Given the description of an element on the screen output the (x, y) to click on. 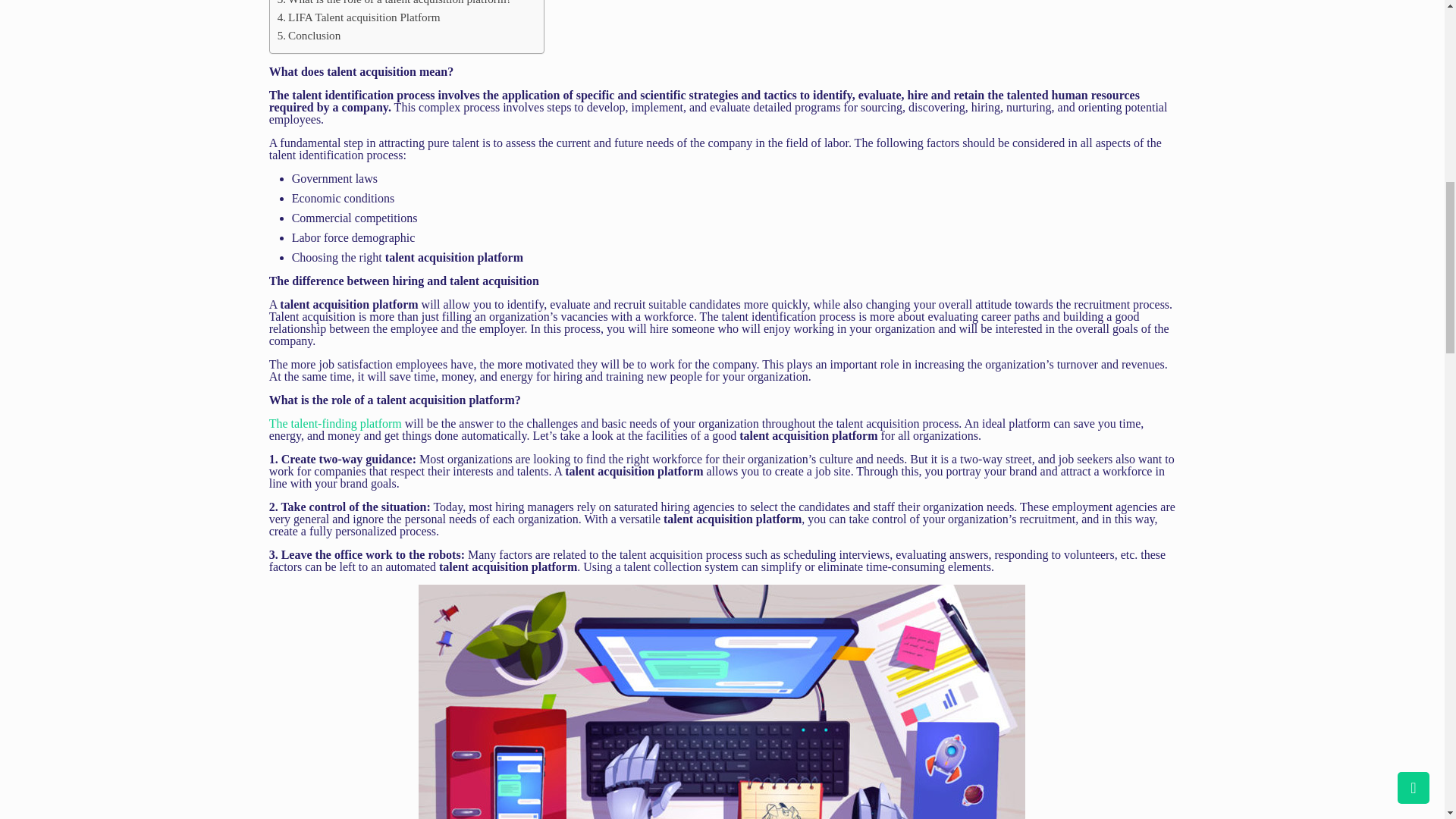
What is the role of a talent acquisition platform? (395, 4)
What is the role of a talent acquisition platform? (395, 4)
The talent-finding platform (336, 422)
Conclusion (309, 35)
LIFA Talent acquisition Platform (359, 17)
LIFA Talent acquisition Platform (359, 17)
Conclusion (309, 35)
